Given the description of an element on the screen output the (x, y) to click on. 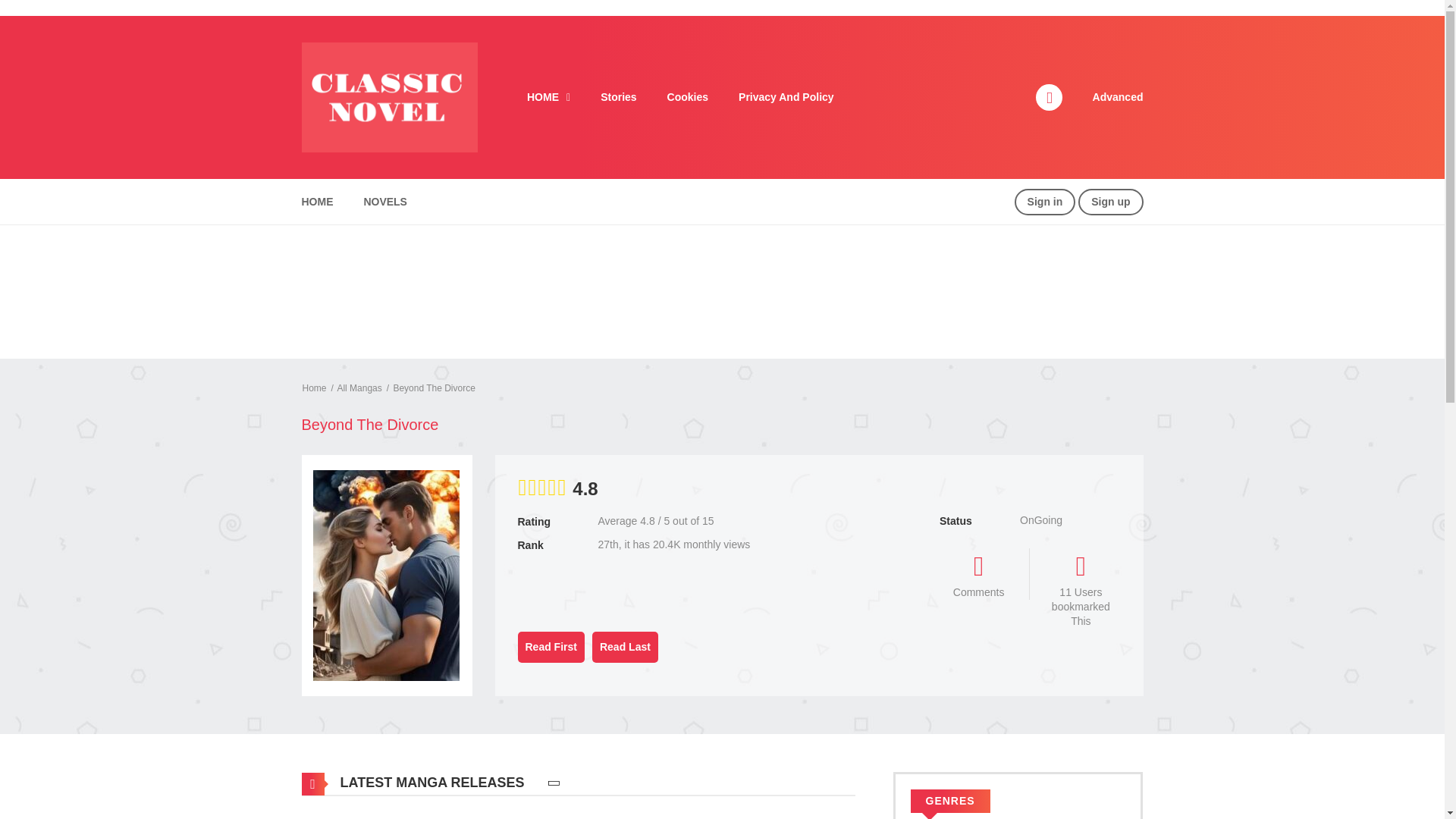
Classic Novel (389, 96)
Stories (617, 97)
HOME (548, 97)
Change Order (553, 783)
Search (970, 17)
Advanced (1117, 96)
Privacy And Policy (785, 97)
Cookies (687, 97)
